Given the description of an element on the screen output the (x, y) to click on. 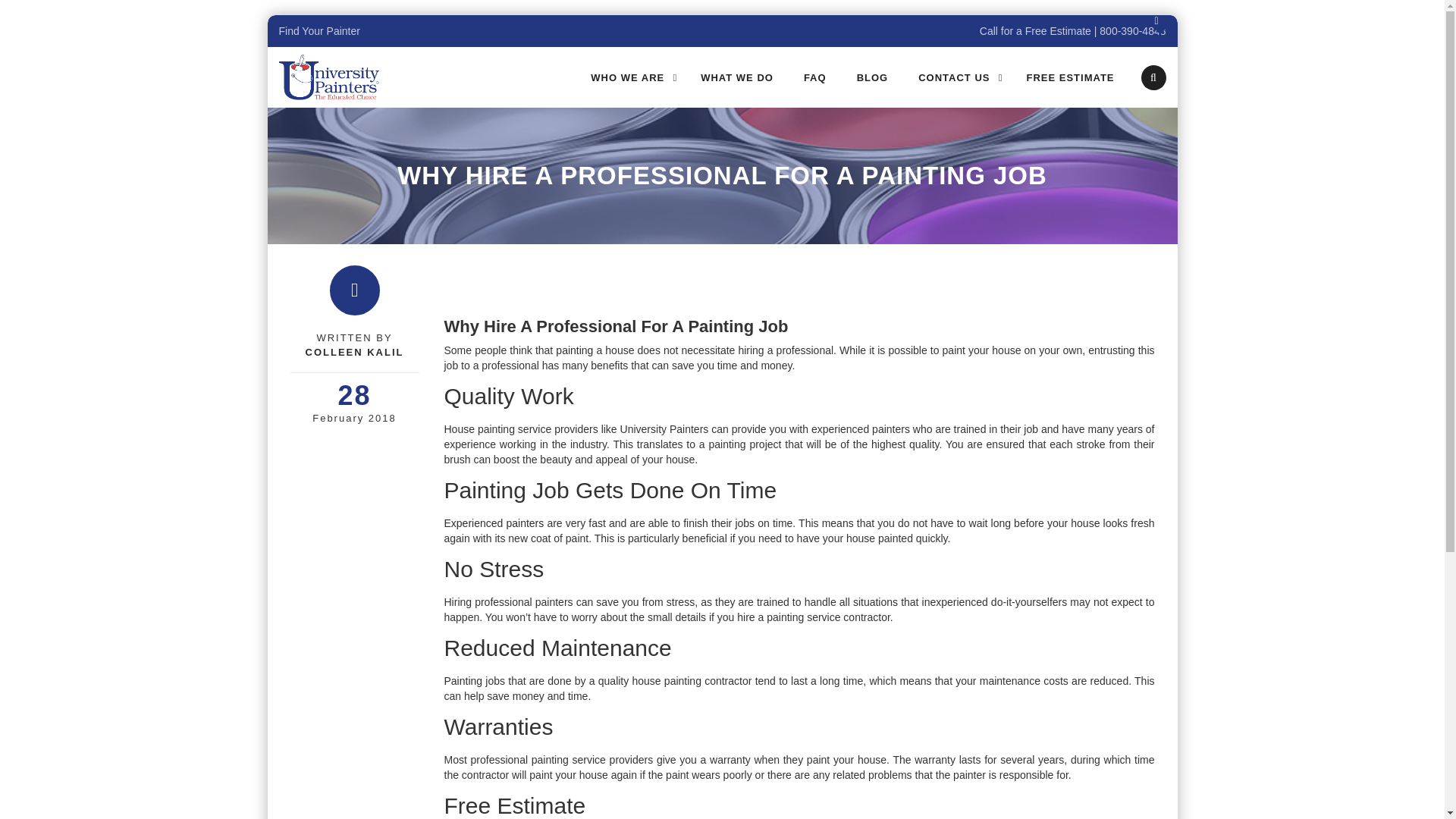
FREE ESTIMATE (1069, 78)
BLOG (872, 78)
FAQ (815, 78)
CONTACT US (956, 78)
WHO WE ARE (630, 78)
University Painters (329, 76)
Painting (463, 680)
painting (574, 349)
Experienced painters (494, 522)
Find Your Painter (319, 30)
